Given the description of an element on the screen output the (x, y) to click on. 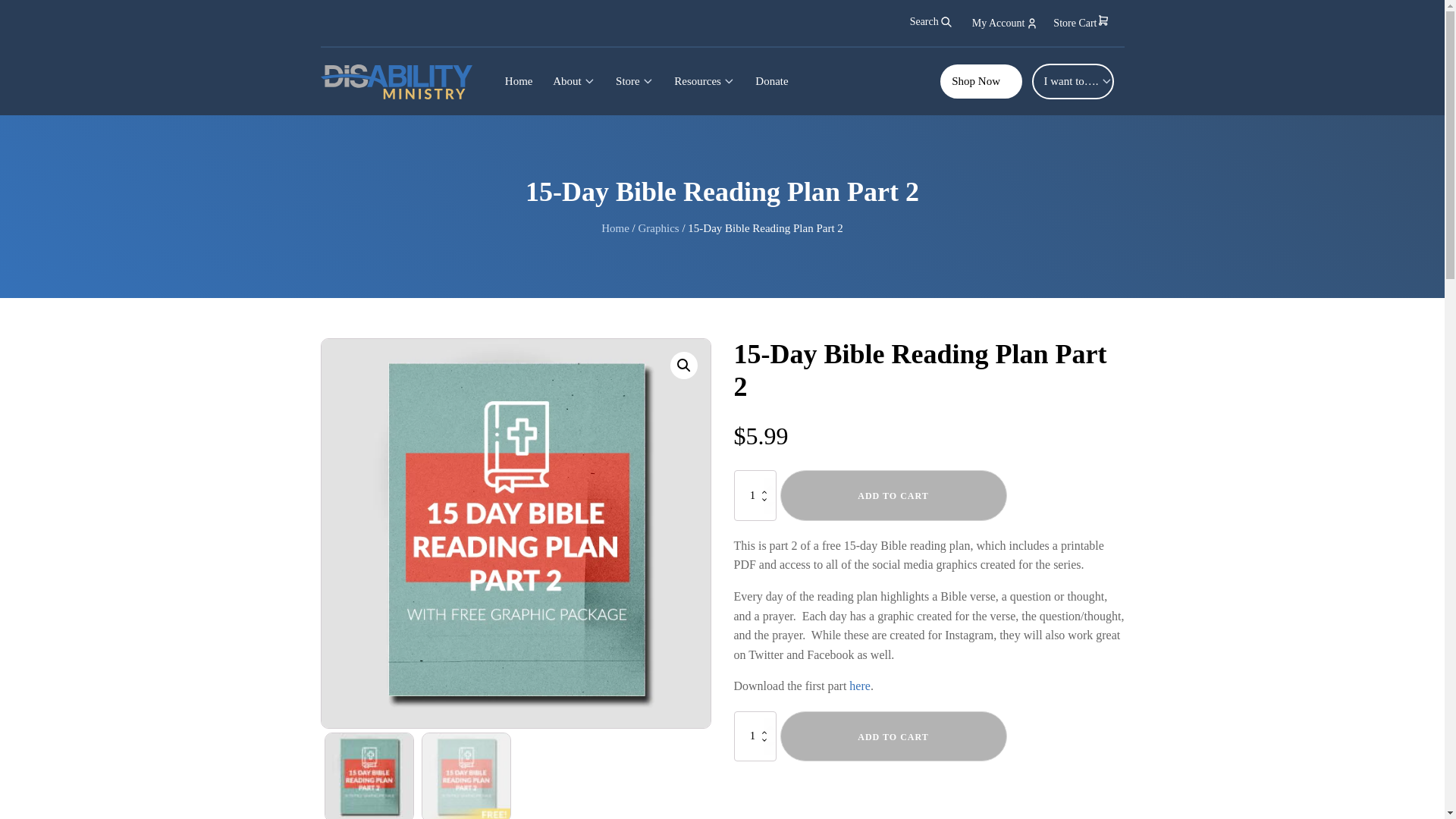
Search (930, 21)
Home (518, 81)
Search (20, 8)
About (574, 81)
My Account (1005, 23)
Store (634, 81)
Resources (704, 81)
